Given the description of an element on the screen output the (x, y) to click on. 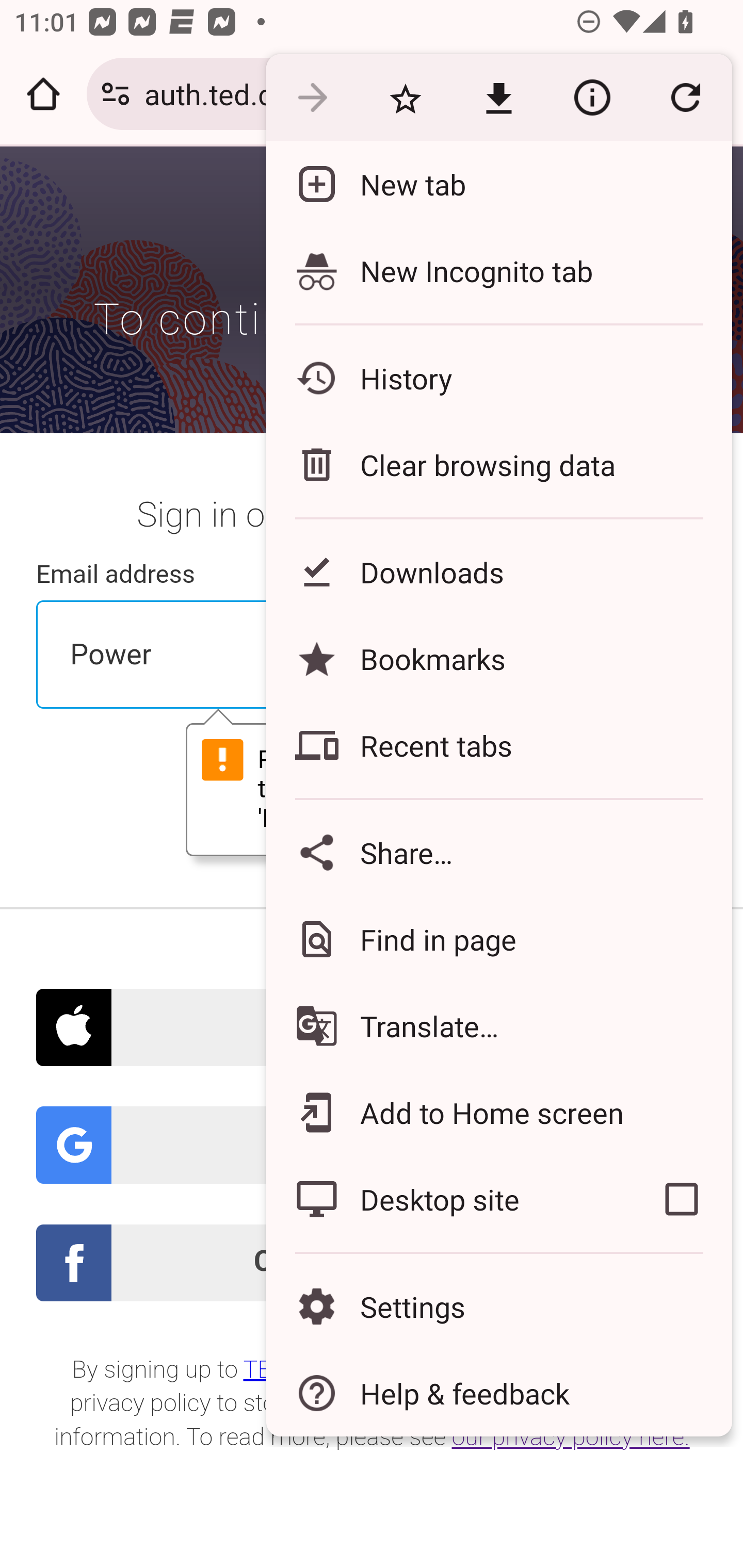
Forward (311, 97)
Bookmark (404, 97)
Download (498, 97)
Page info (591, 97)
Refresh (684, 97)
New tab (498, 184)
New Incognito tab (498, 270)
History (498, 377)
Clear browsing data (498, 464)
Downloads (498, 571)
Bookmarks (498, 658)
Recent tabs (498, 745)
Share… (498, 852)
Find in page (498, 939)
Translate… (498, 1026)
Add to Home screen (498, 1112)
Desktop site Turn on Request desktop site (447, 1198)
Settings (498, 1306)
Help & feedback (498, 1393)
